Given the description of an element on the screen output the (x, y) to click on. 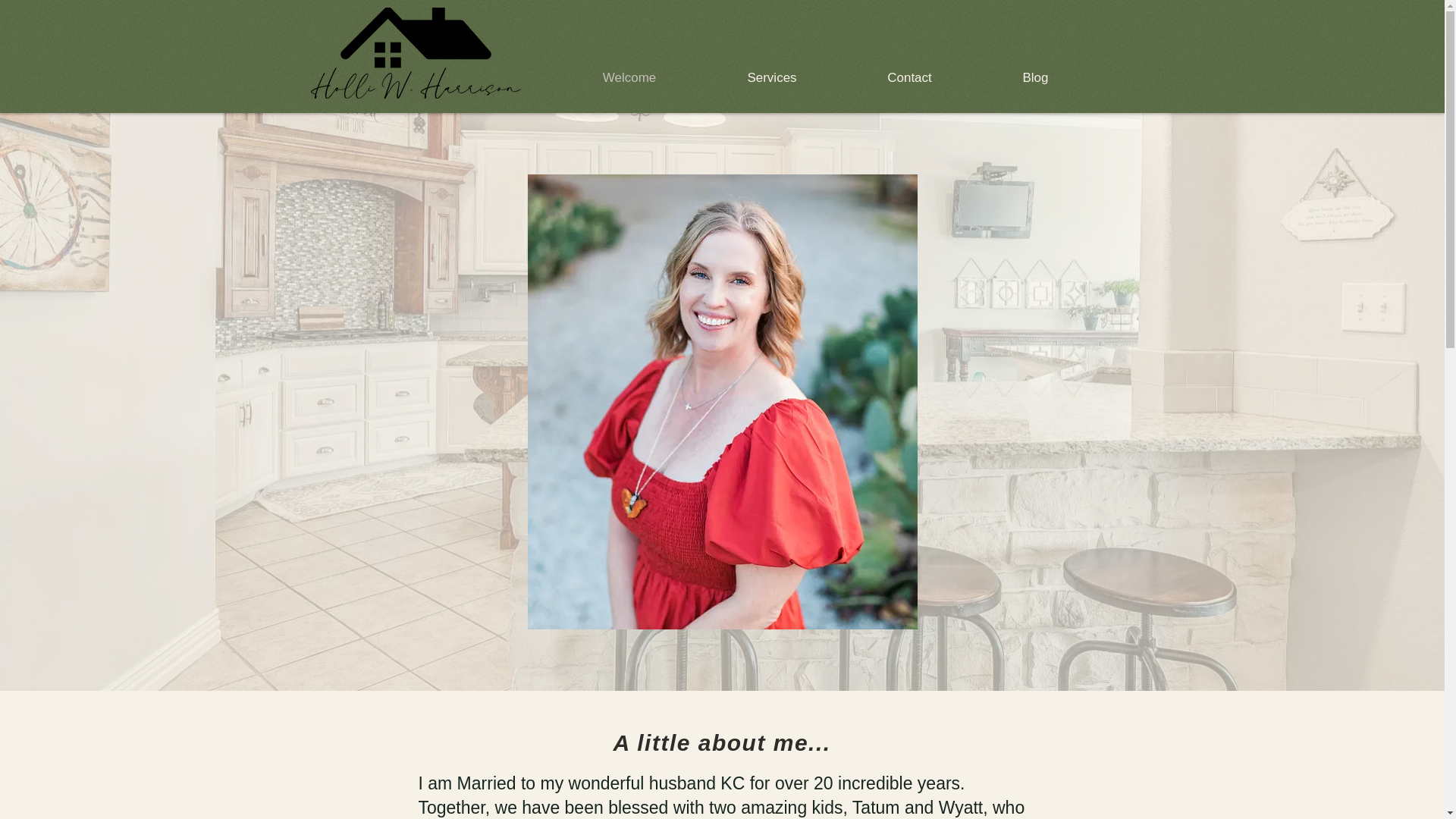
Welcome (628, 77)
Contact (908, 77)
Blog (1034, 77)
Services (772, 77)
